Given the description of an element on the screen output the (x, y) to click on. 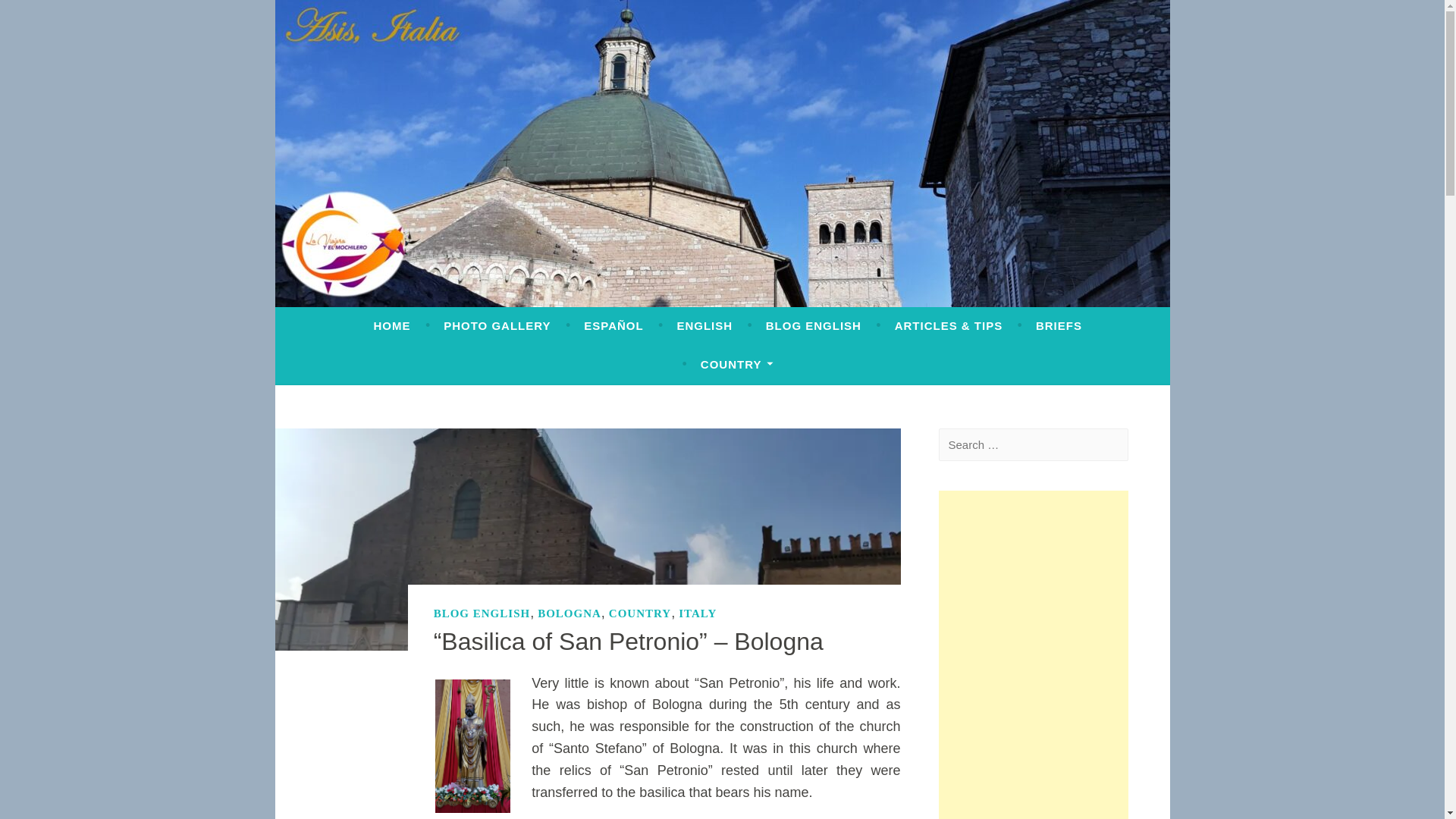
PHOTO GALLERY (497, 325)
COUNTRY (736, 364)
BLOG ENGLISH (813, 325)
HOME (391, 325)
BRIEFS (1058, 325)
ENGLISH (704, 325)
